Given the description of an element on the screen output the (x, y) to click on. 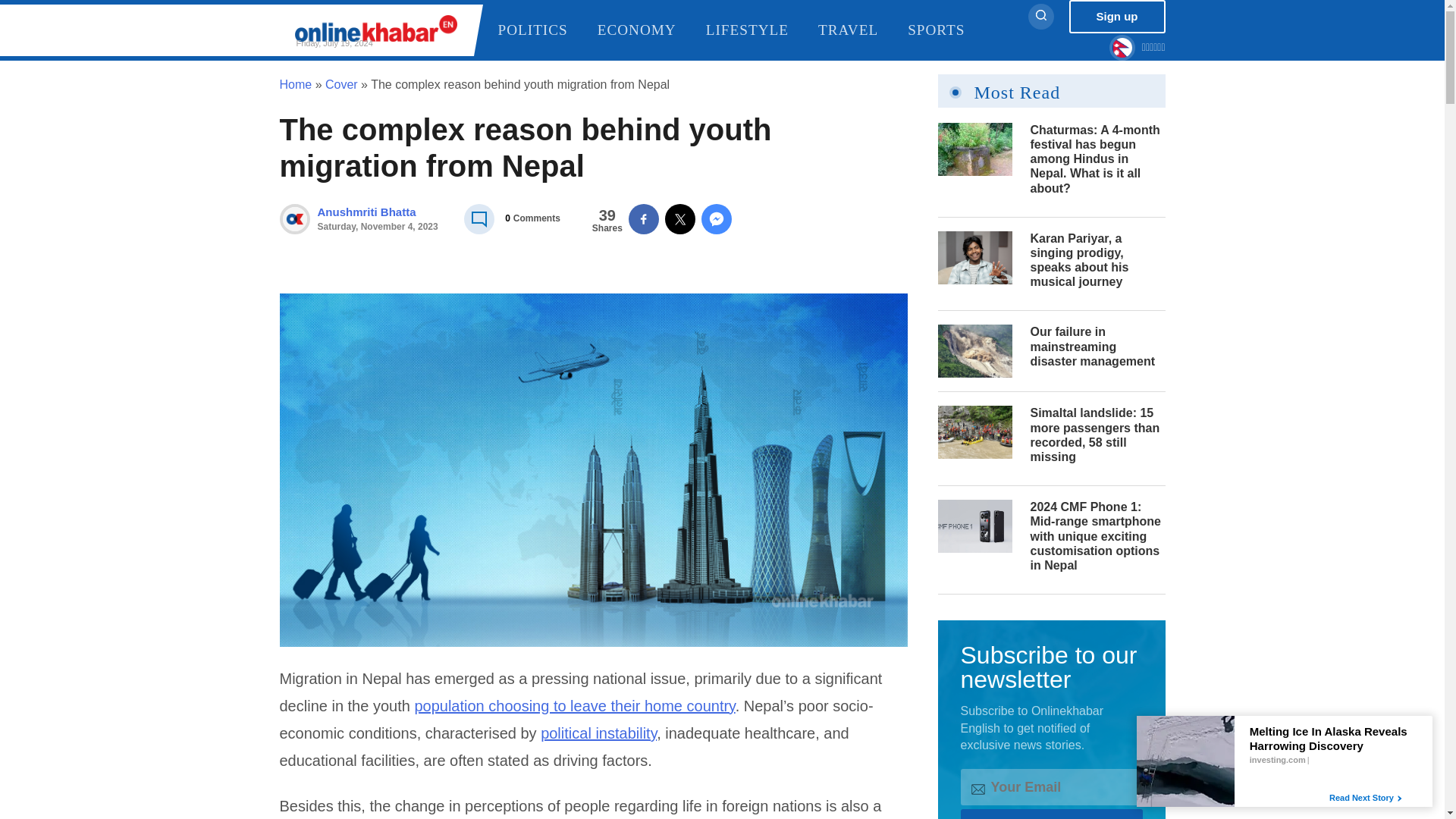
population choosing to leave their home country (574, 705)
Cover (341, 83)
TRAVEL (861, 30)
Sign up (1117, 16)
Subscribe (1050, 814)
SPORTS (948, 30)
political instability (598, 733)
Home (295, 83)
LIFESTYLE (759, 30)
ECONOMY (648, 30)
POLITICS (544, 30)
Subscribe (377, 218)
